Given the description of an element on the screen output the (x, y) to click on. 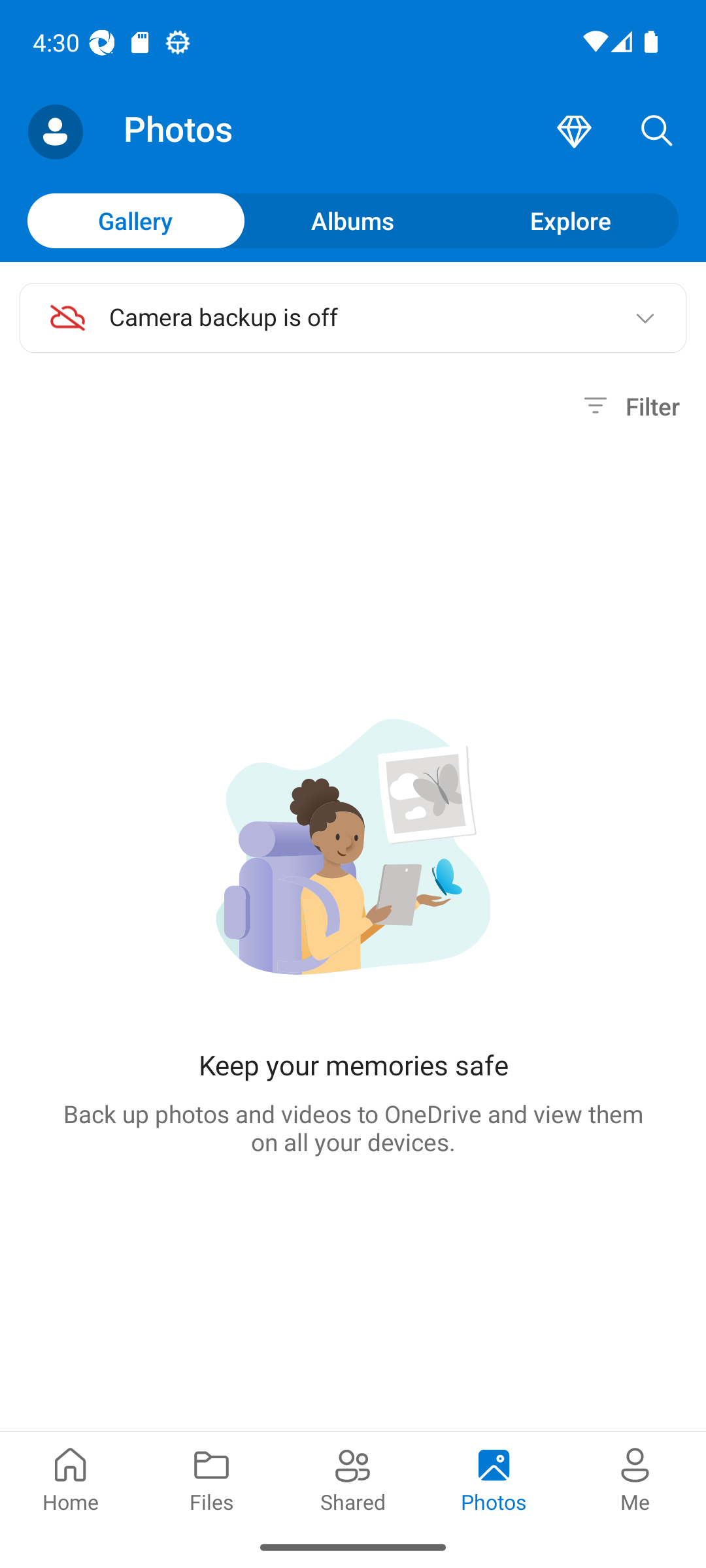
Account switcher (55, 131)
Premium button (574, 131)
Search button (656, 131)
Albums (352, 219)
Explore (569, 219)
Expand camera status banner (645, 318)
Filter (628, 405)
Home pivot Home (70, 1478)
Files pivot Files (211, 1478)
Shared pivot Shared (352, 1478)
Me pivot Me (635, 1478)
